Given the description of an element on the screen output the (x, y) to click on. 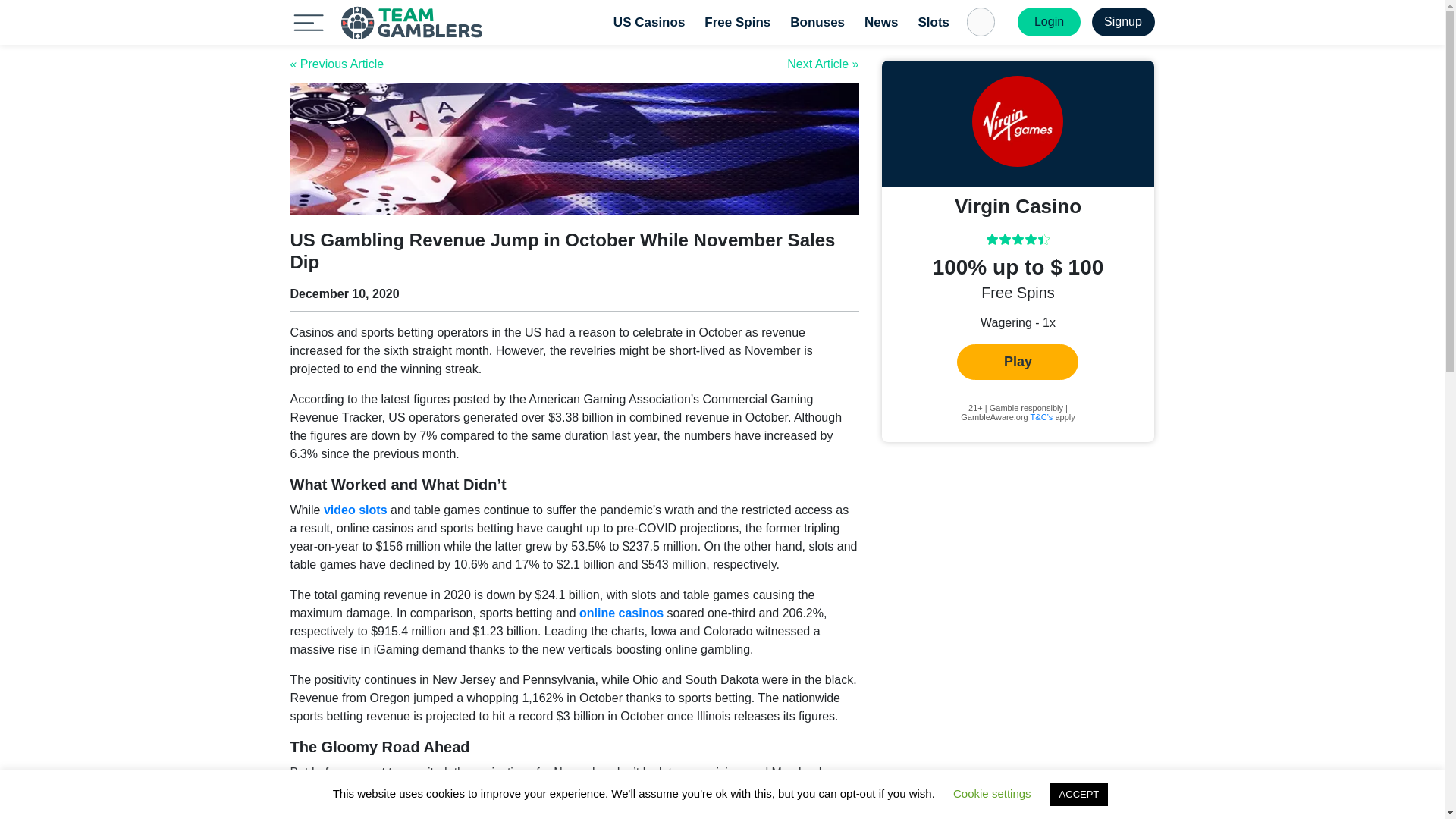
News (880, 22)
Slots (933, 22)
Login (1048, 21)
video slots (355, 509)
Bonuses (817, 22)
US Casinos (649, 22)
Free Spins (737, 22)
Signup (1123, 21)
Play (1017, 361)
online casinos (621, 612)
Search (18, 12)
